Given the description of an element on the screen output the (x, y) to click on. 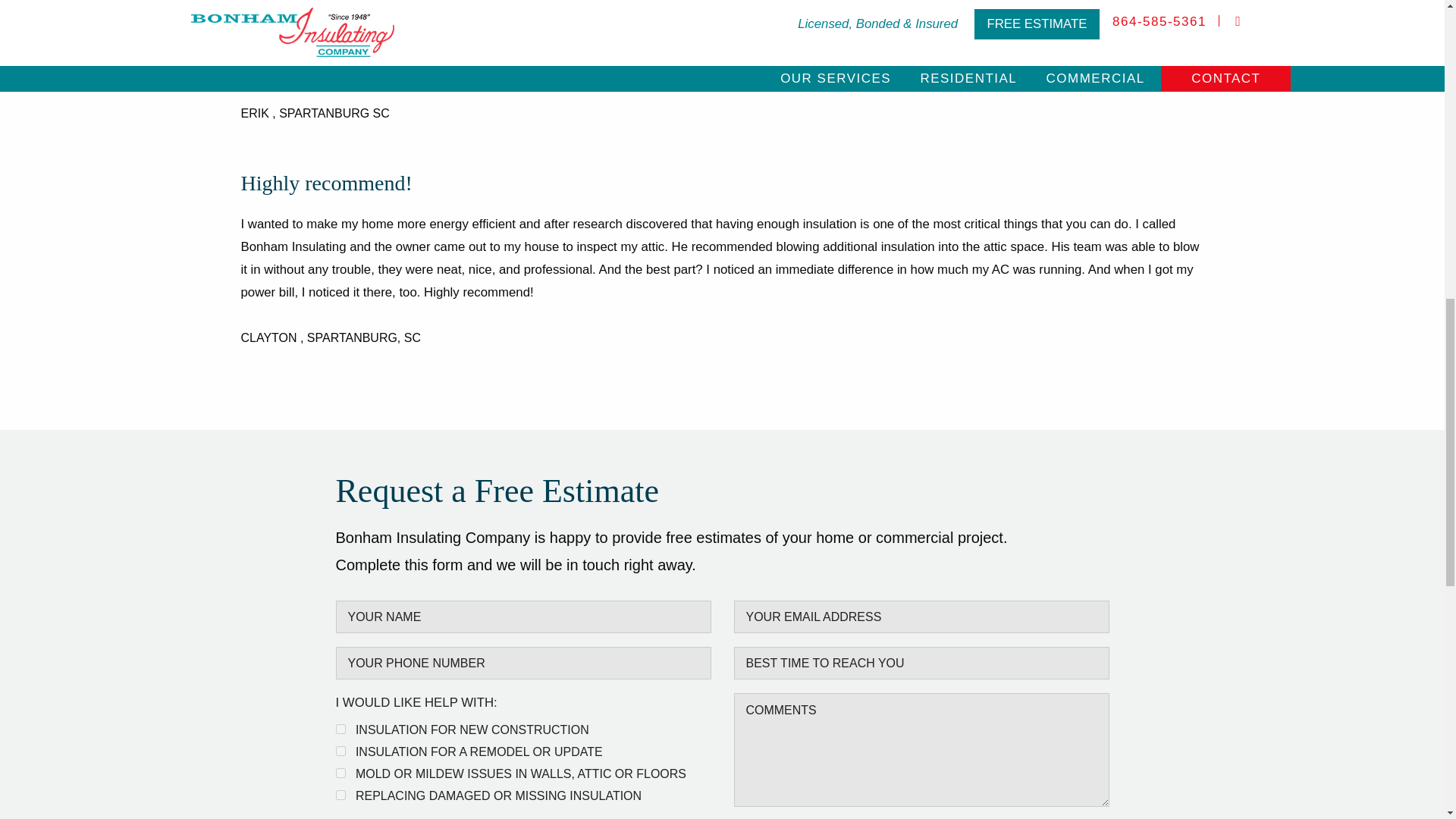
on (339, 773)
on (339, 750)
on (339, 728)
on (339, 795)
